Given the description of an element on the screen output the (x, y) to click on. 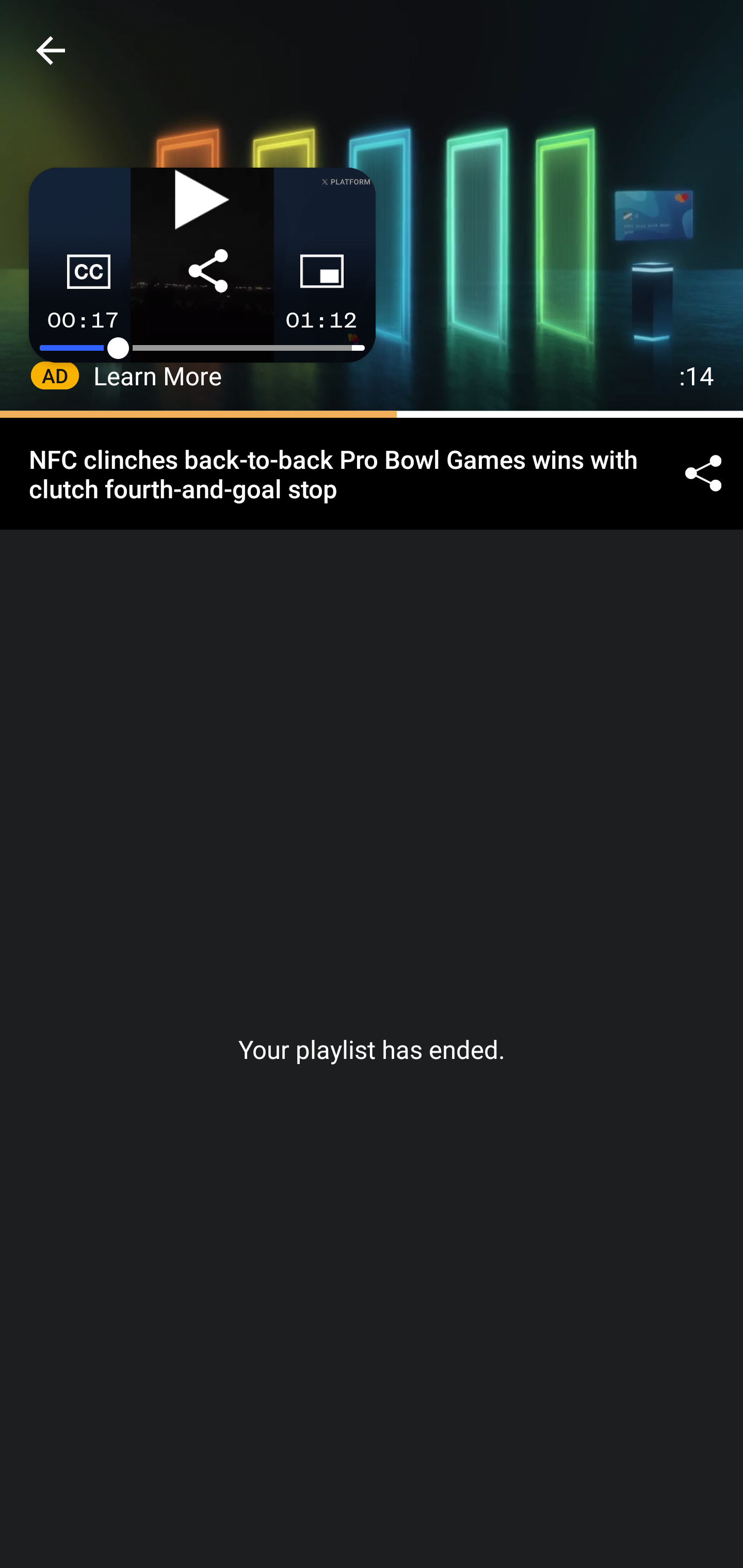
Navigate up (50, 50)
Learn More (157, 375)
Share © (703, 474)
